Given the description of an element on the screen output the (x, y) to click on. 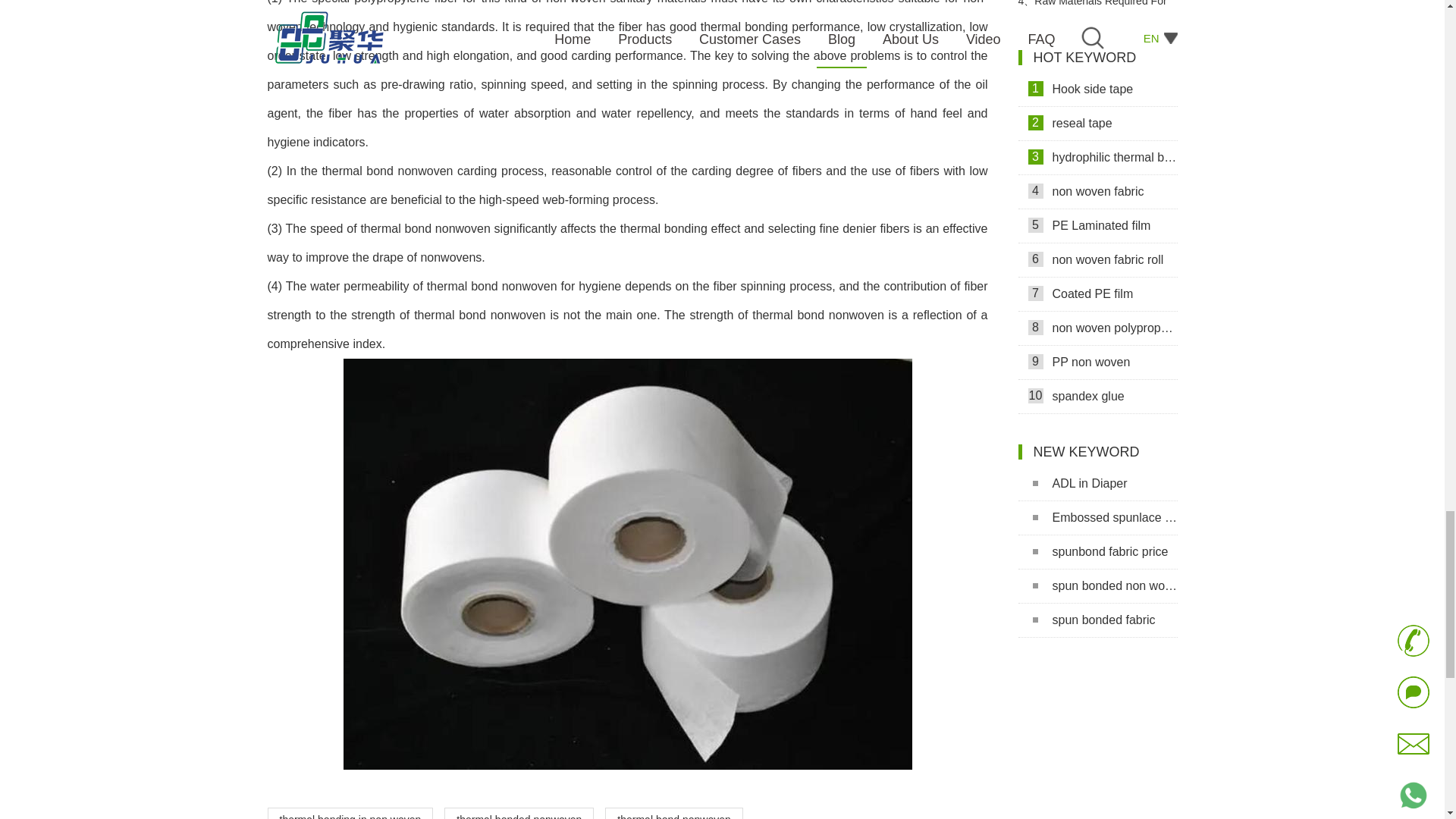
PP non woven  (1096, 362)
PE Laminated film (1096, 226)
Embossed spunlace non woven  fabric for wet wipes (1096, 518)
Hook side tape (1096, 89)
ADL in Diaper (1096, 483)
reseal tape (1096, 123)
non woven polypropylene  (1096, 328)
Coated PE film  (1096, 294)
spandex glue (1096, 397)
thermal bonding in non woven (349, 813)
non woven fabric (1096, 192)
hydrophilic thermal bond non woven fabric  (1096, 157)
non woven fabric roll  (1096, 260)
Raw Materials Required For Making Sanitary Pads Video (1096, 9)
